Given the description of an element on the screen output the (x, y) to click on. 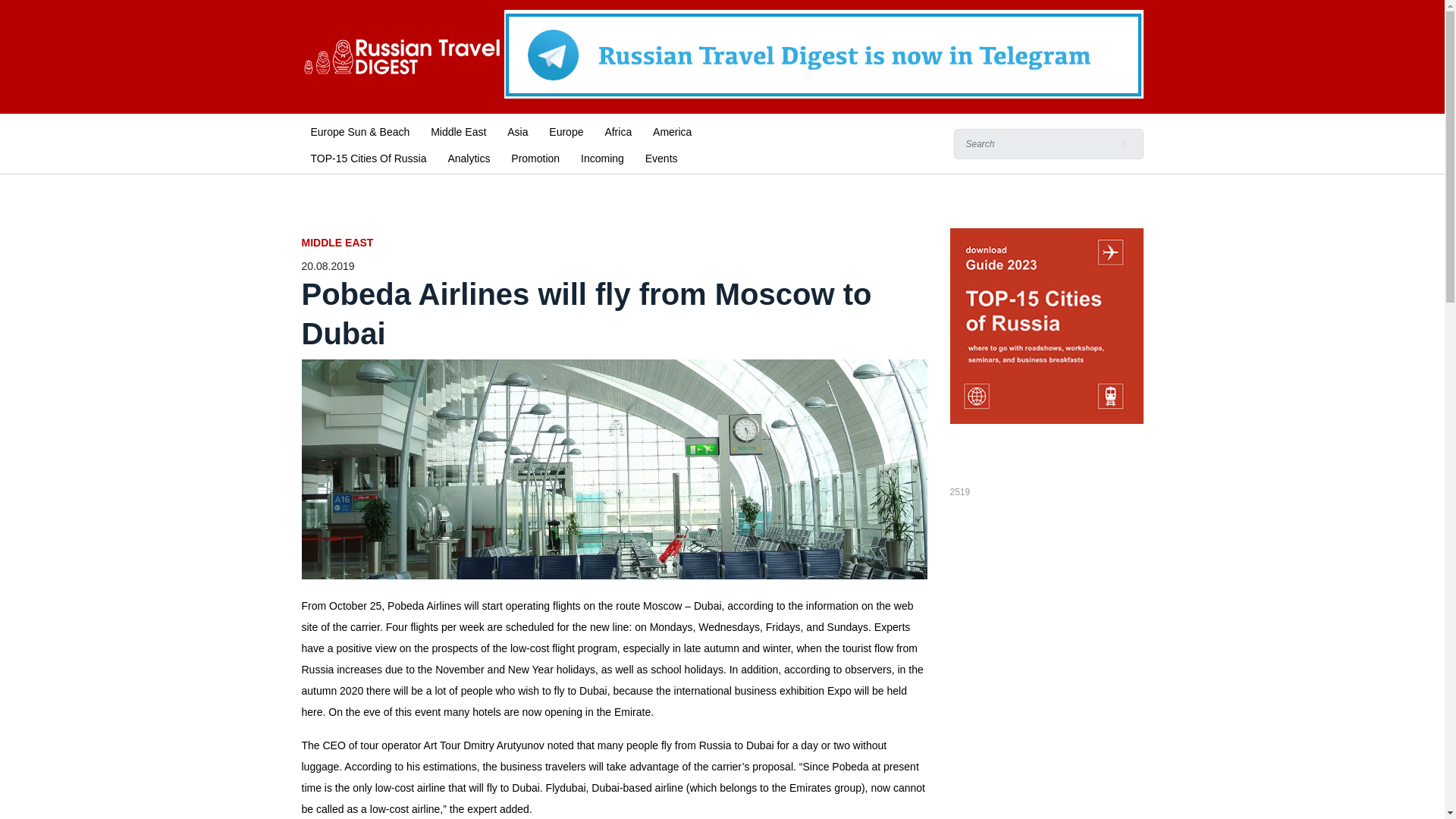
sisea.search (1123, 143)
TOP-15 Cities Of Russia (368, 157)
Incoming (602, 157)
Promotion (535, 157)
America (671, 130)
MIDDLE EAST (614, 242)
Events (661, 157)
Asia (517, 130)
Europe (566, 130)
Africa (617, 130)
Analytics (468, 157)
Middle East (458, 130)
